Given the description of an element on the screen output the (x, y) to click on. 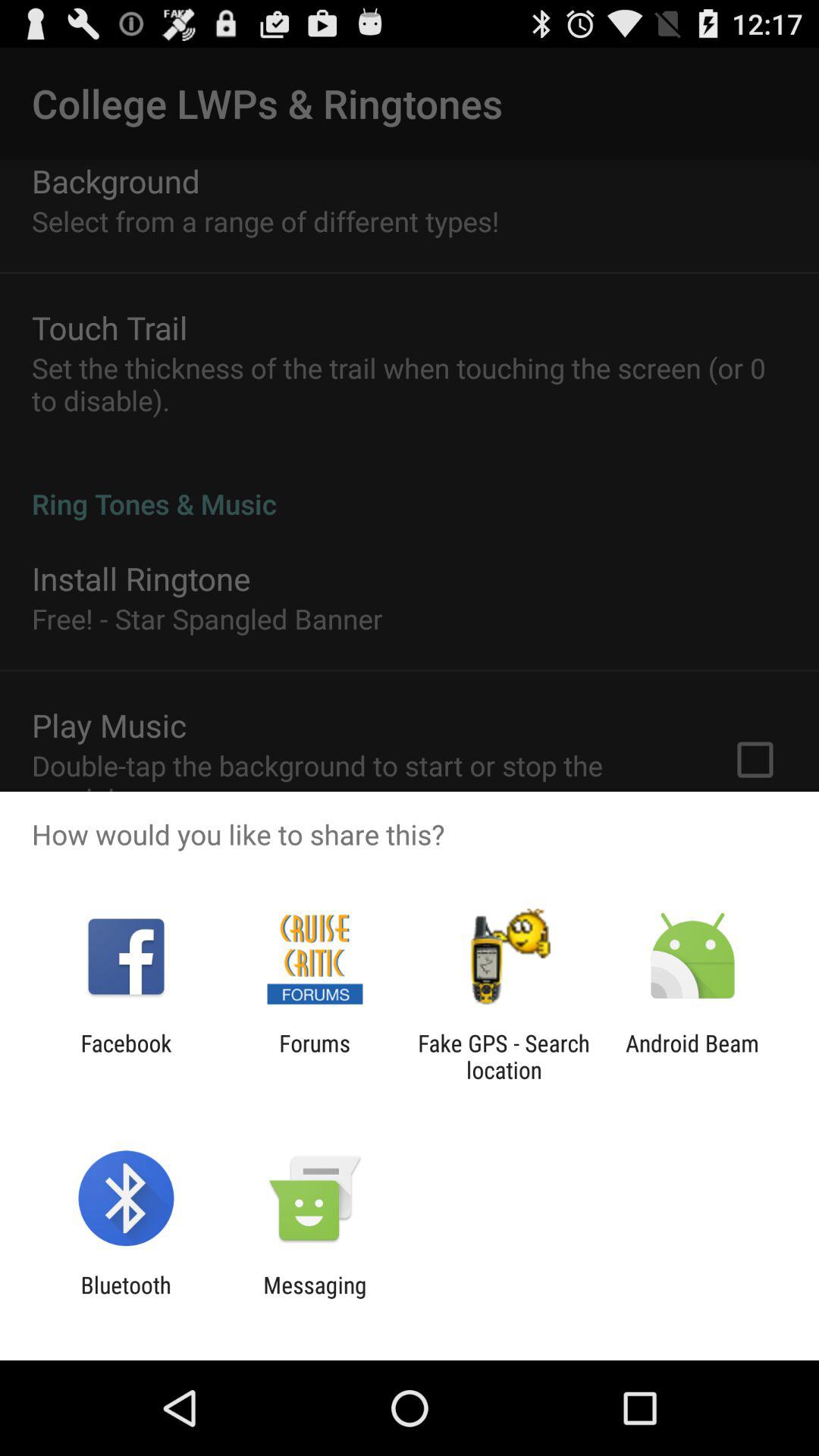
choose bluetooth icon (125, 1298)
